Given the description of an element on the screen output the (x, y) to click on. 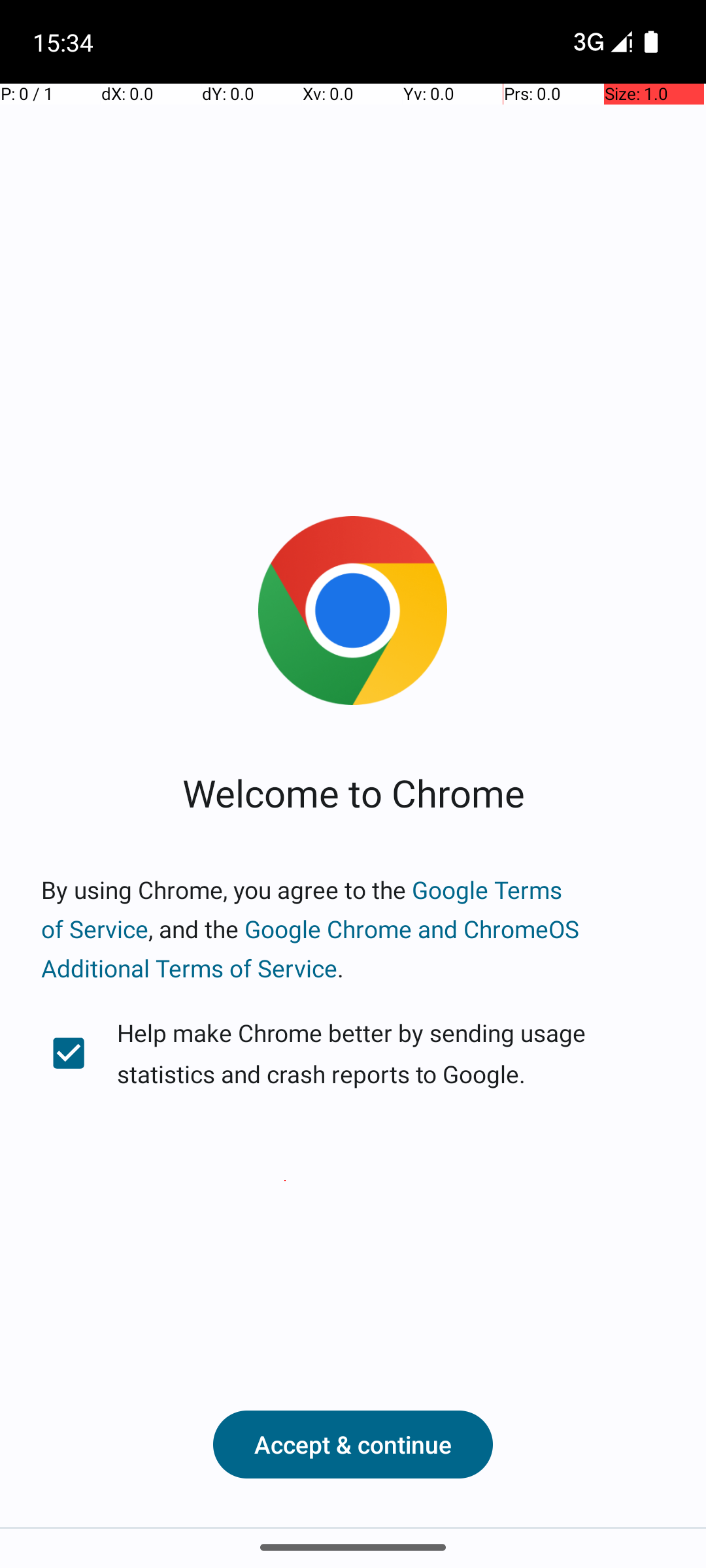
Accept & continue Element type: android.widget.Button (352, 1444)
By using Chrome, you agree to the Google Terms of Service, and the Google Chrome and ChromeOS Additional Terms of Service. Element type: android.widget.TextView (352, 928)
Help make Chrome better by sending usage statistics and crash reports to Google. Element type: android.widget.CheckBox (352, 1053)
